Given the description of an element on the screen output the (x, y) to click on. 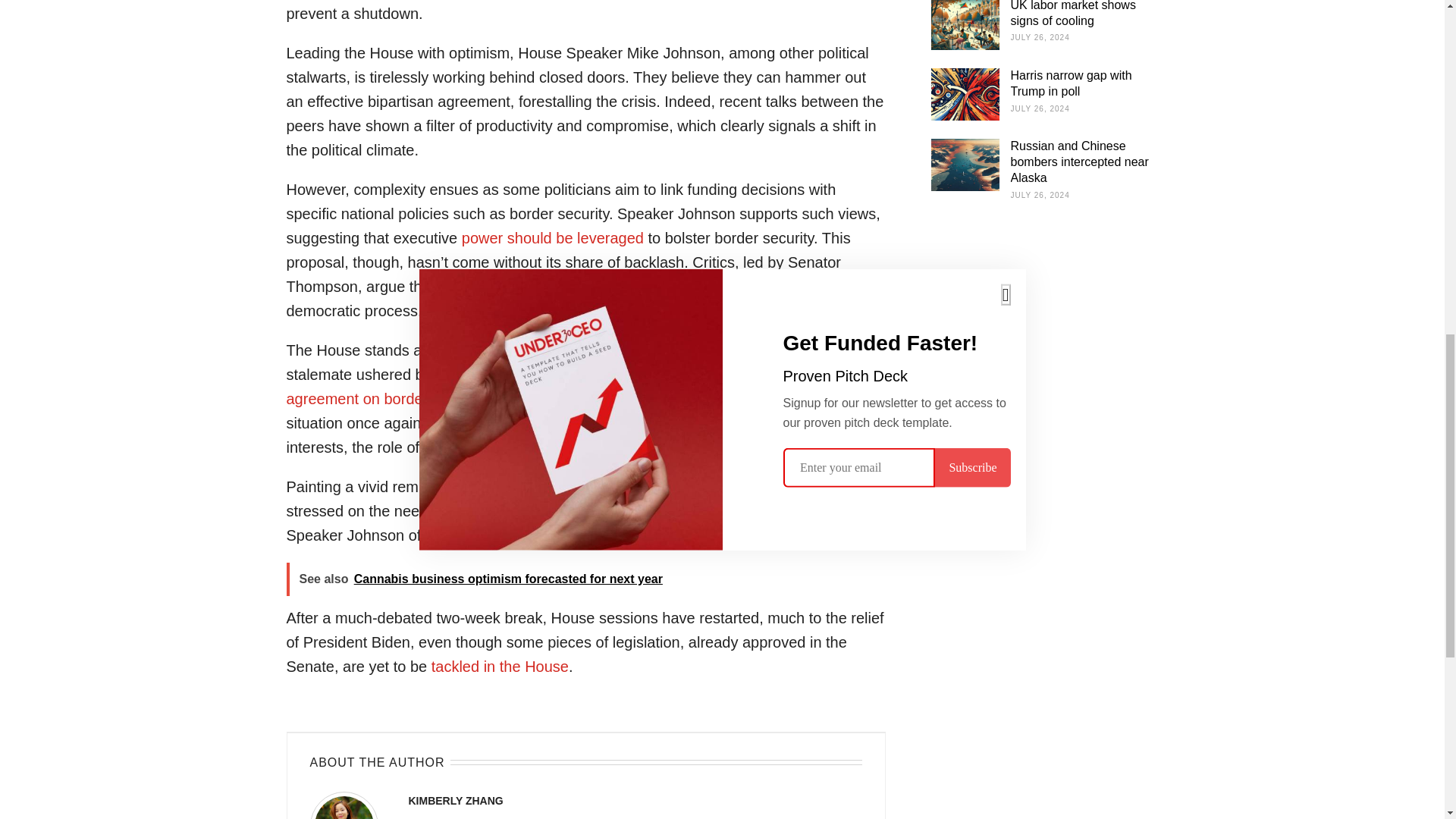
Posts by Kimberly Zhang (454, 800)
